Given the description of an element on the screen output the (x, y) to click on. 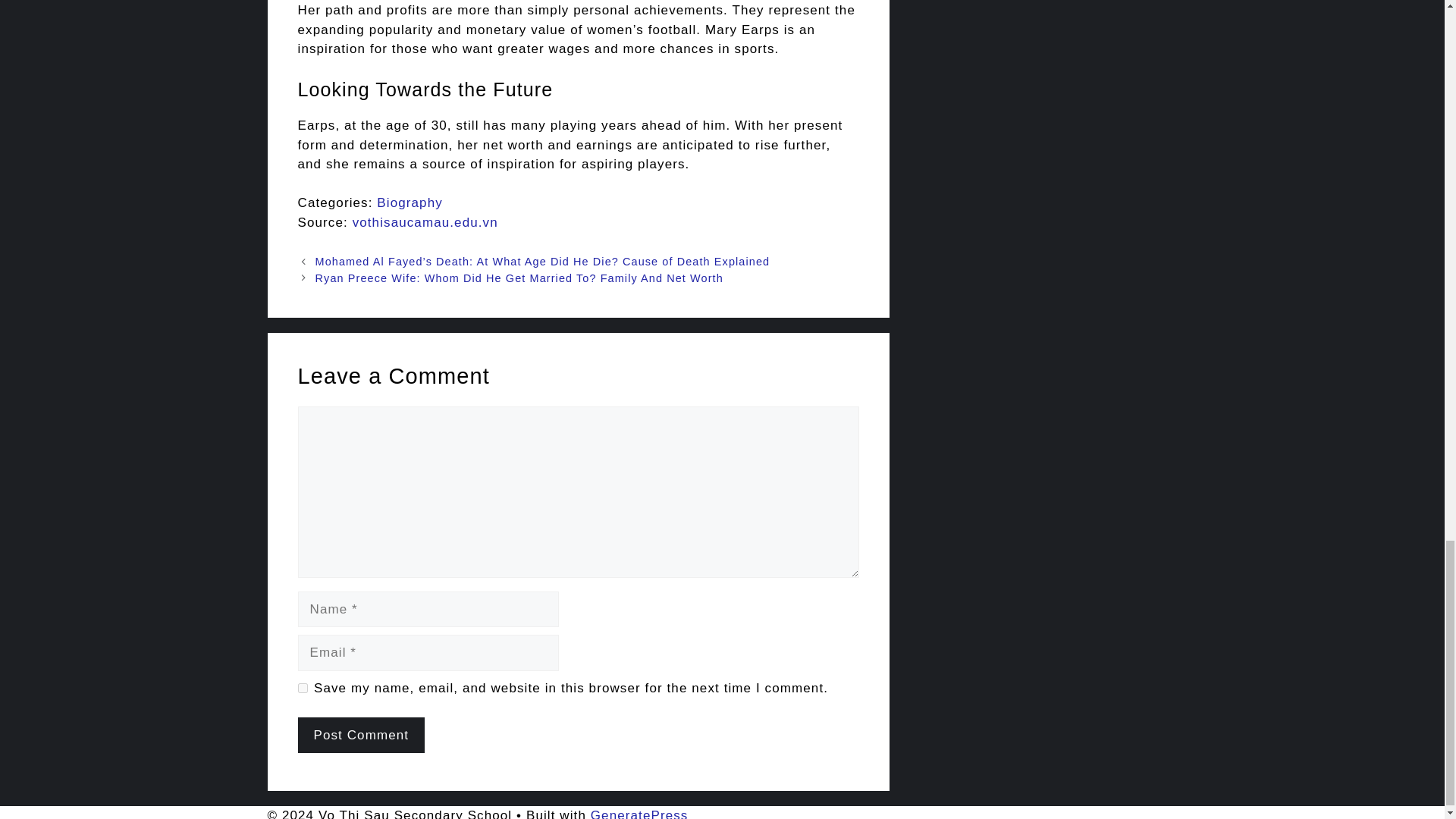
Biography (409, 202)
vothisaucamau.edu.vn (424, 222)
GeneratePress (639, 813)
Post Comment (361, 735)
yes (302, 687)
Post Comment (361, 735)
